Given the description of an element on the screen output the (x, y) to click on. 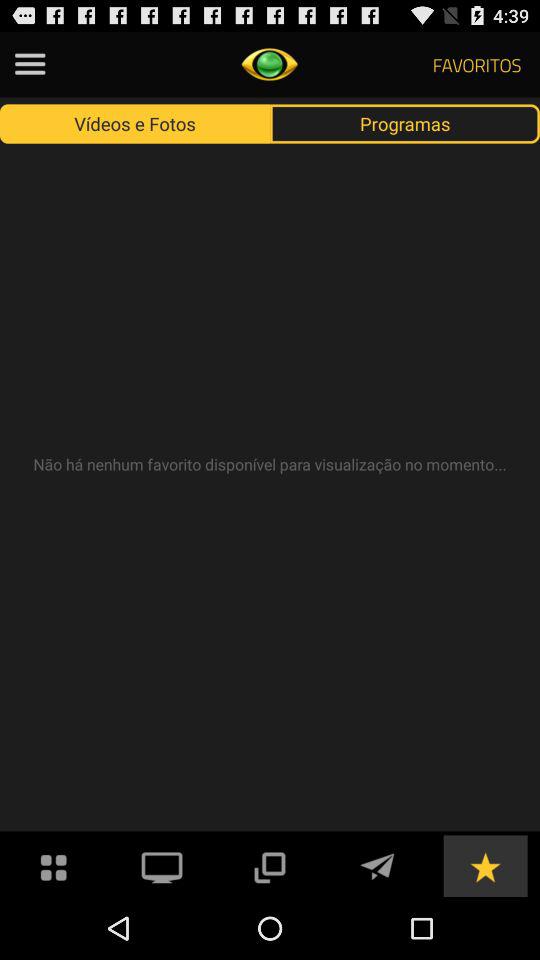
send (377, 865)
